Given the description of an element on the screen output the (x, y) to click on. 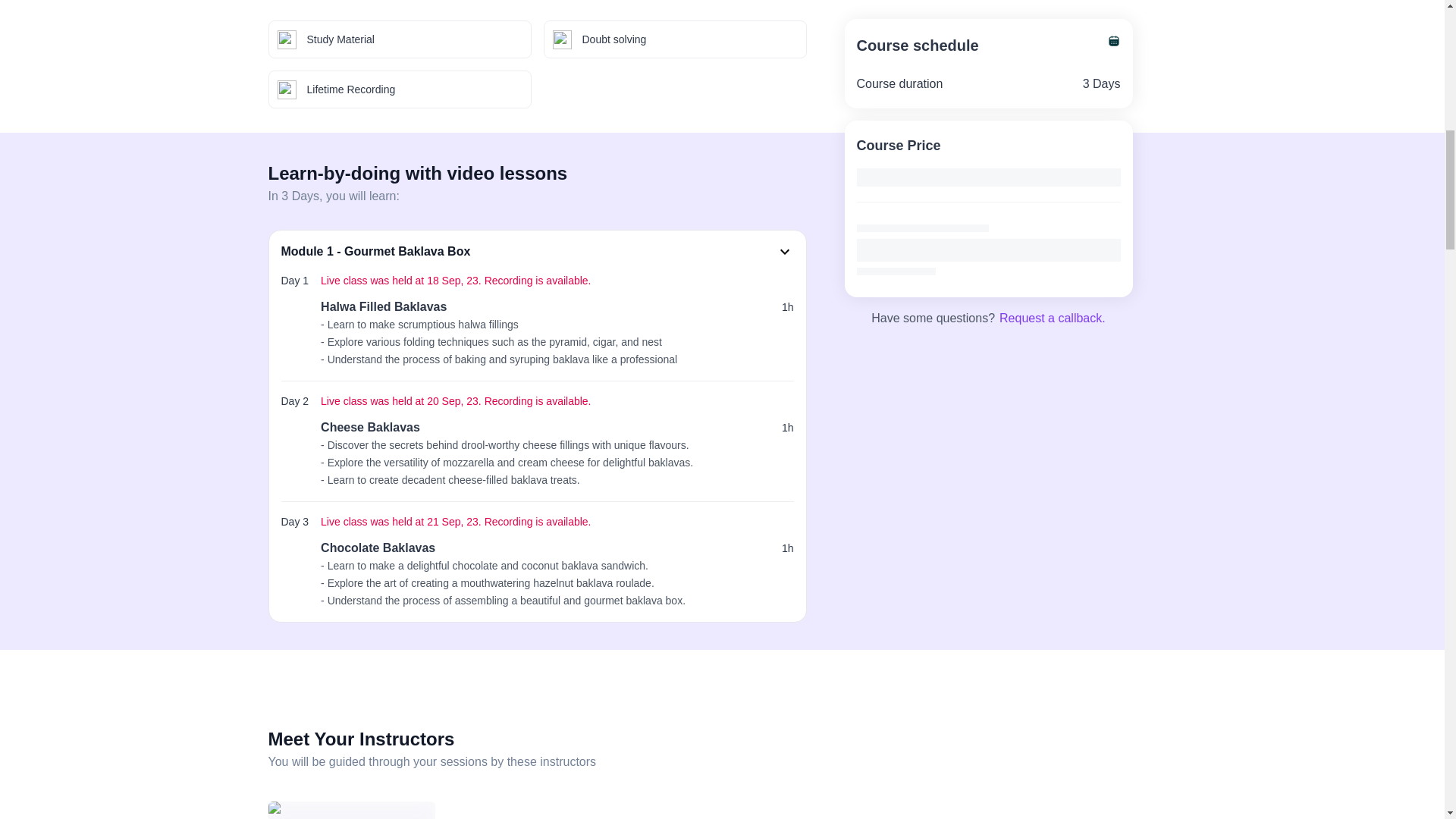
Chef Gurleen Kaur - Gourmet Baklava Box course instructor (351, 810)
